Given the description of an element on the screen output the (x, y) to click on. 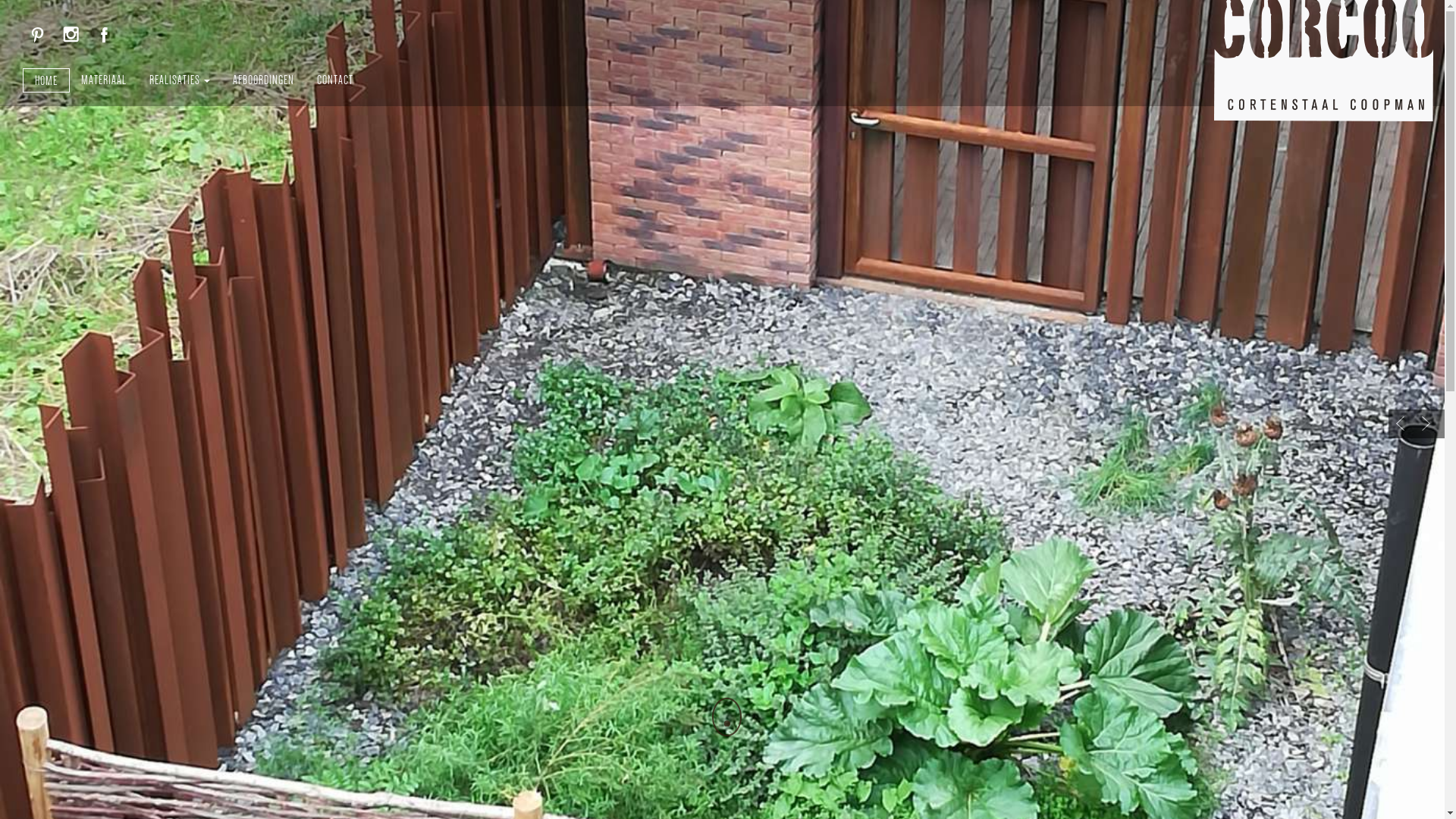
Instagram Element type: text (71, 33)
HOME Element type: text (45, 80)
REALISATIES Element type: text (179, 79)
MATERIAAL Element type: text (103, 79)
CONTACT Element type: text (334, 79)
Facebook Element type: text (104, 33)
Skip to main content Element type: text (0, 0)
AFBOORDINGEN Element type: text (263, 79)
Pinterest Element type: text (37, 33)
